Given the description of an element on the screen output the (x, y) to click on. 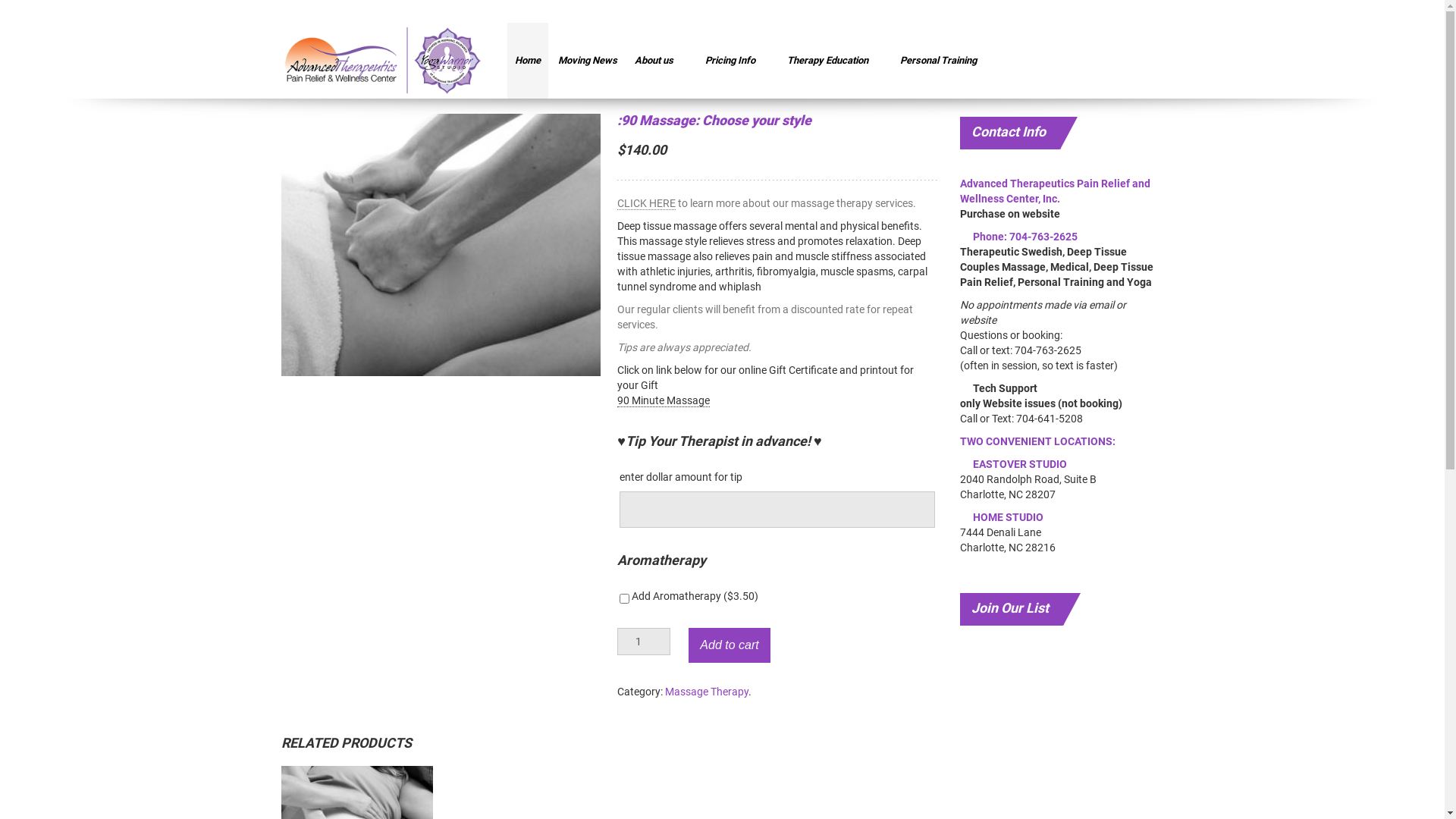
Home Element type: text (527, 60)
90 Minute Massage Element type: text (663, 400)
Therapy Education Element type: text (834, 60)
Pricing Info Element type: text (737, 60)
About us Element type: text (661, 60)
Qty Element type: hover (643, 641)
CLICK HERE Element type: text (646, 203)
:90 minute massage Element type: hover (440, 244)
Search Element type: text (50, 19)
Moving News Element type: text (587, 60)
Massage Therapy Element type: text (706, 691)
Add to cart Element type: text (728, 644)
Personal Training Element type: text (945, 60)
